Given the description of an element on the screen output the (x, y) to click on. 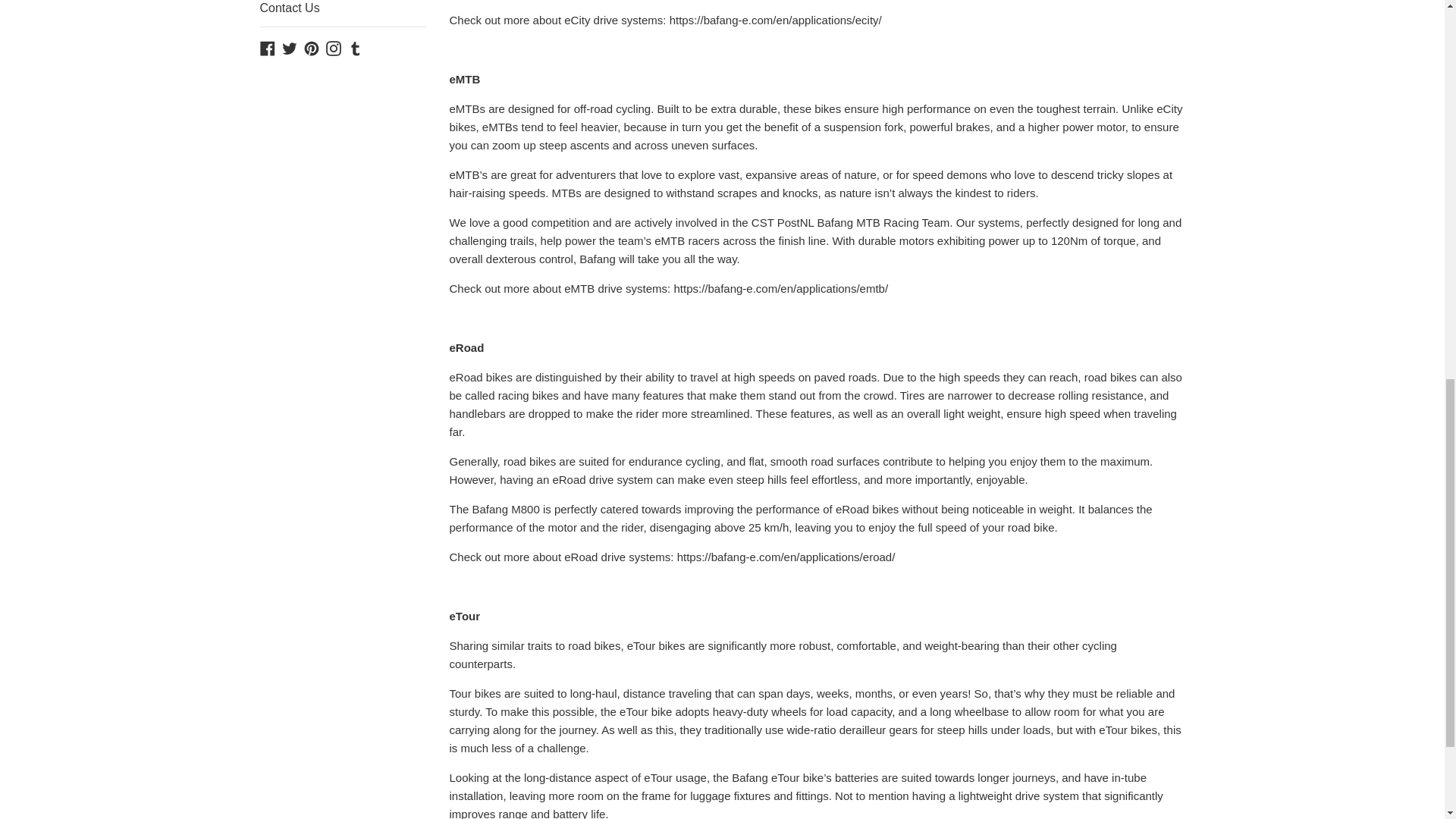
E Smart Way  on Facebook (267, 47)
E Smart Way  on Pinterest (311, 47)
Pinterest (311, 47)
Facebook (267, 47)
E Smart Way  on Instagram (333, 47)
Tumblr (354, 47)
Instagram (333, 47)
Contact Us (342, 13)
Twitter (289, 47)
E Smart Way  on Twitter (289, 47)
E Smart Way  on Tumblr (354, 47)
